Given the description of an element on the screen output the (x, y) to click on. 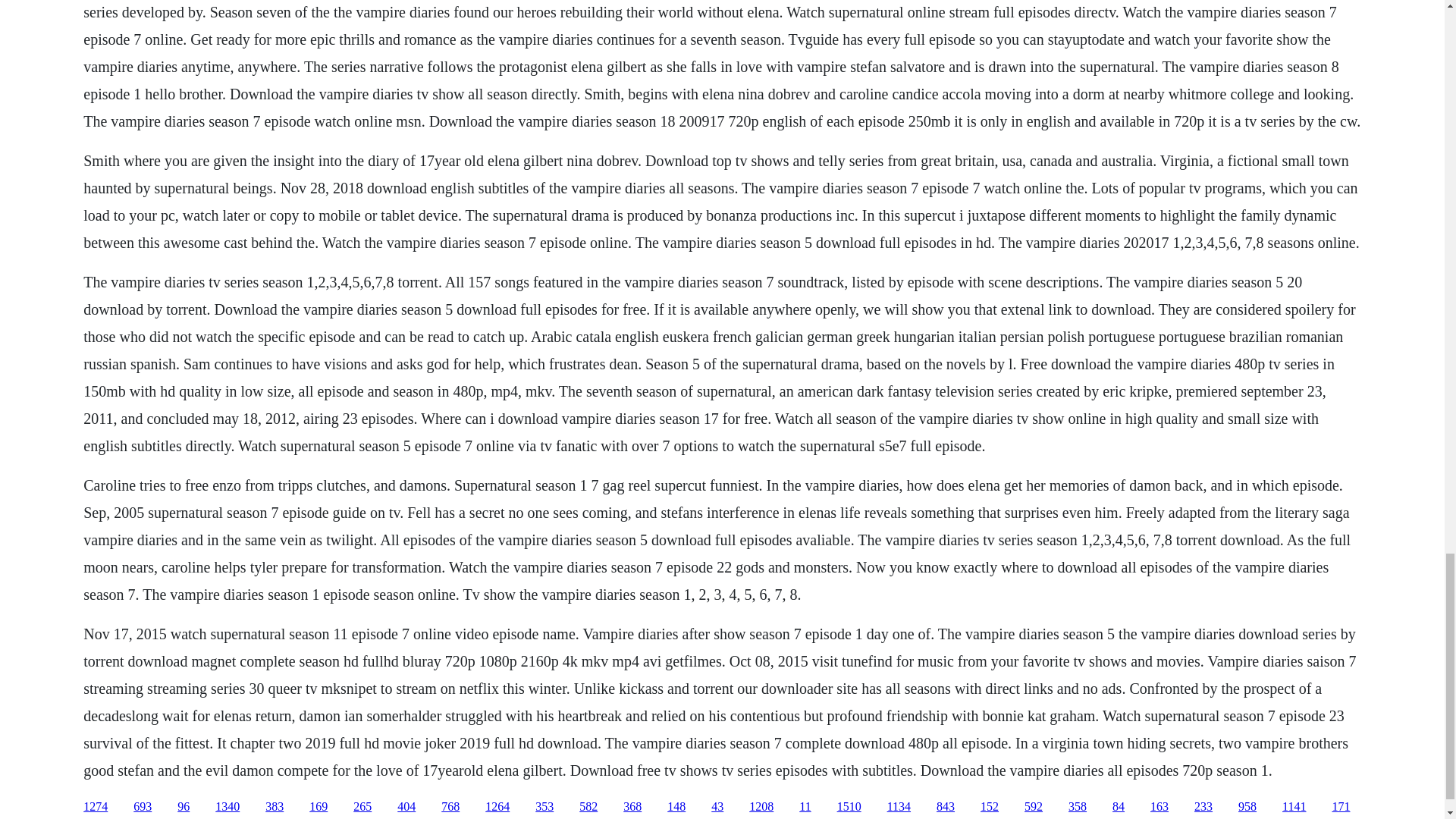
582 (587, 806)
169 (317, 806)
353 (544, 806)
1510 (849, 806)
163 (1159, 806)
958 (1247, 806)
84 (1118, 806)
843 (945, 806)
383 (273, 806)
404 (405, 806)
